Given the description of an element on the screen output the (x, y) to click on. 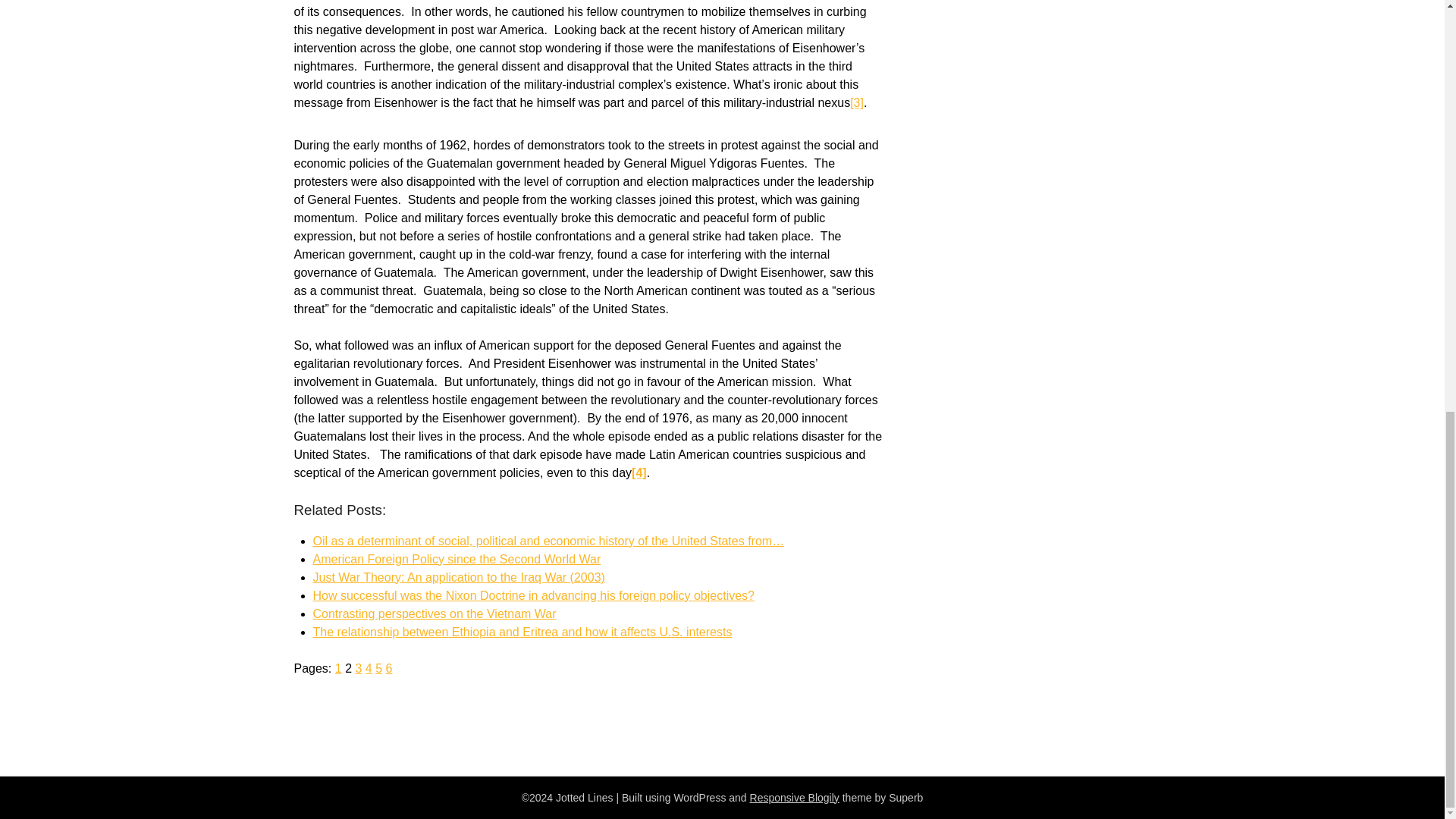
Contrasting perspectives on the Vietnam War (434, 613)
American Foreign Policy since the Second World War (456, 558)
Responsive Blogily (794, 797)
